Given the description of an element on the screen output the (x, y) to click on. 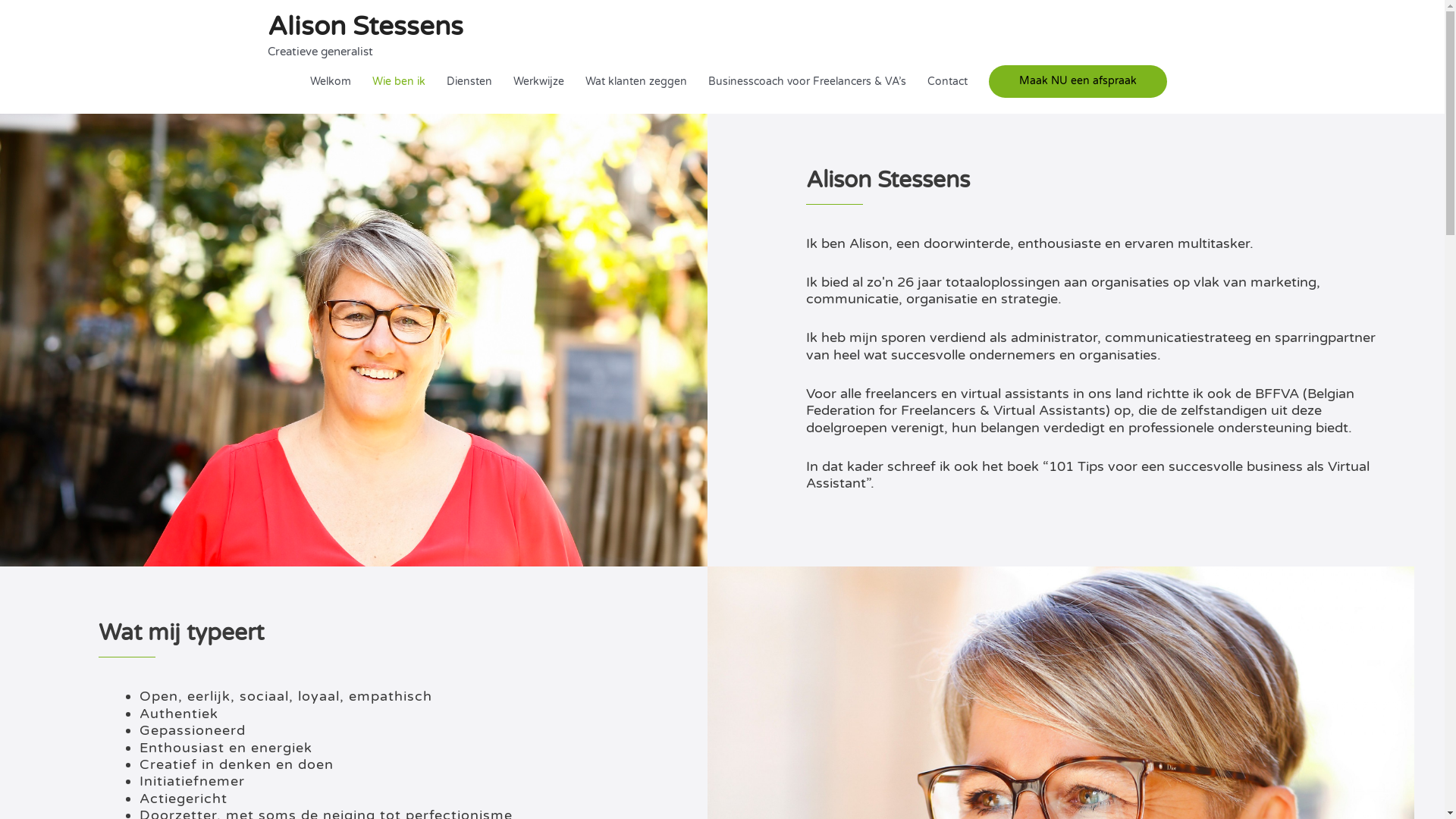
Alison Stessens Element type: text (364, 26)
Diensten Element type: text (468, 81)
Wie ben ik Element type: text (397, 81)
Werkwijze Element type: text (538, 81)
Welkom Element type: text (329, 81)
Wat klanten zeggen Element type: text (635, 81)
Contact Element type: text (946, 81)
Maak NU een afspraak Element type: text (1077, 81)
